Given the description of an element on the screen output the (x, y) to click on. 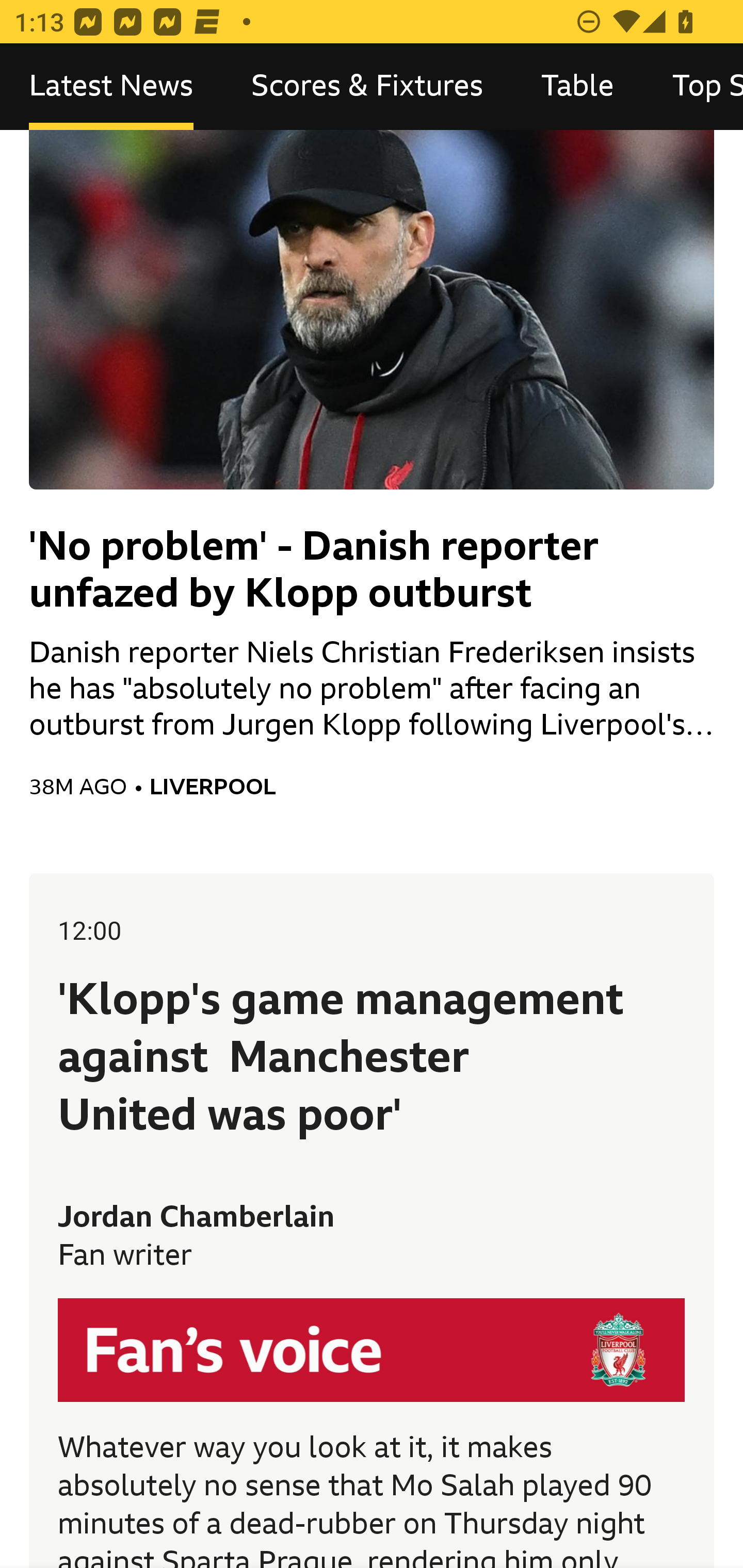
Latest News, selected Latest News (111, 86)
Scores & Fixtures (367, 86)
Table (577, 86)
Top Scorers (693, 86)
